Given the description of an element on the screen output the (x, y) to click on. 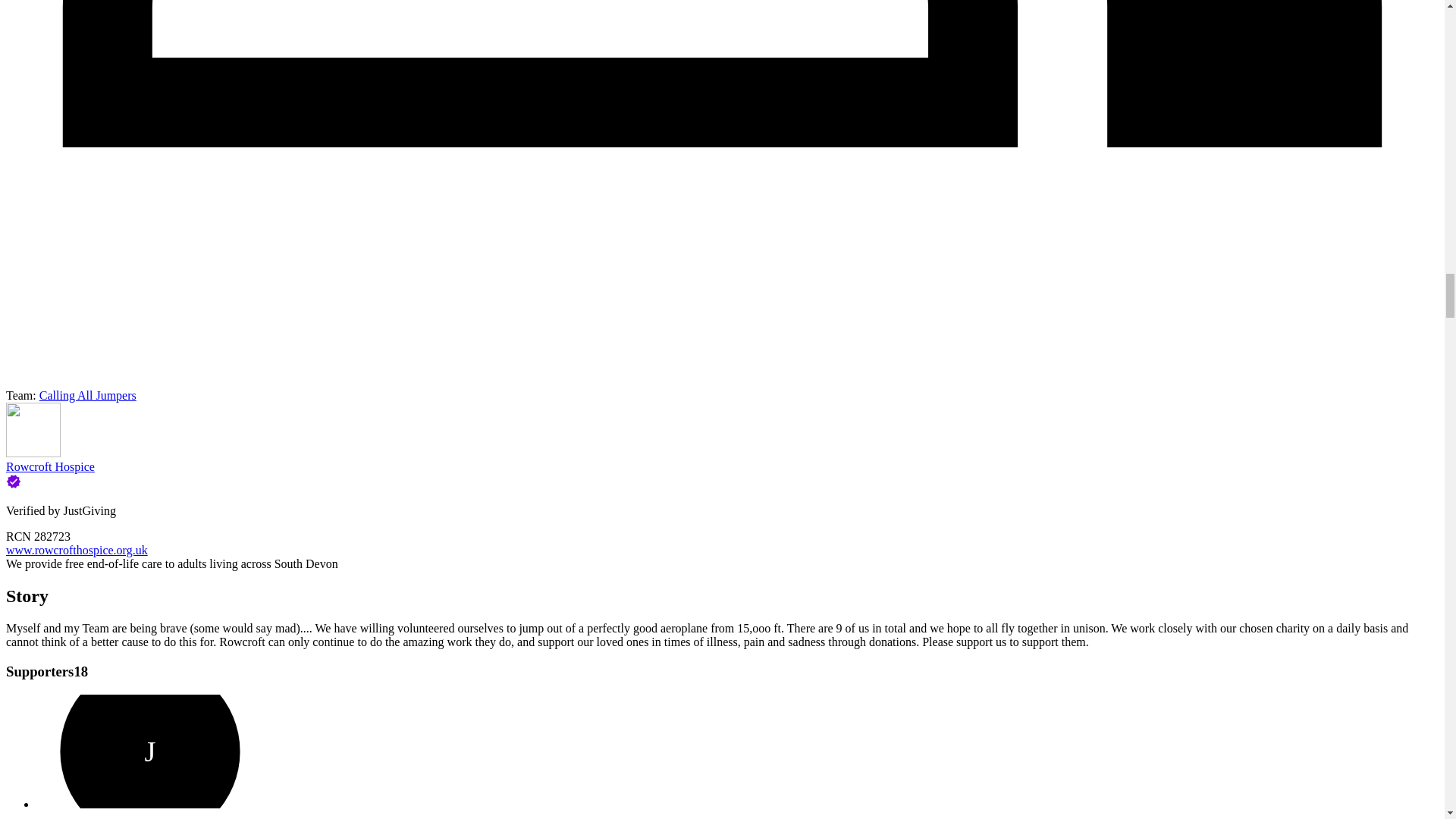
Calling All Jumpers (87, 395)
www.rowcrofthospice.org.uk (76, 549)
J (149, 751)
Rowcroft Hospice (49, 466)
